Given the description of an element on the screen output the (x, y) to click on. 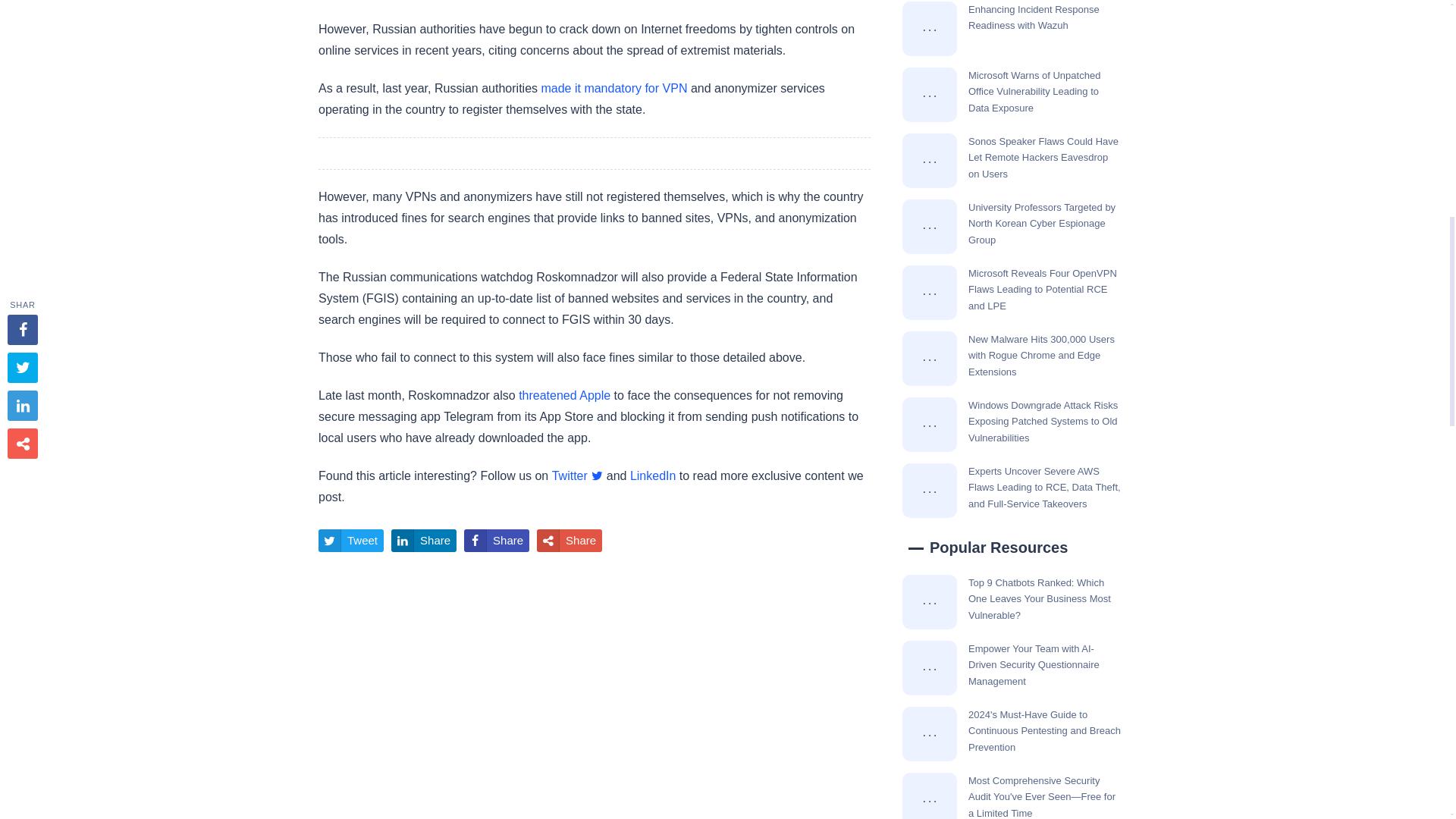
Enhancing Incident Response Readiness with Wazuh (929, 28)
